Given the description of an element on the screen output the (x, y) to click on. 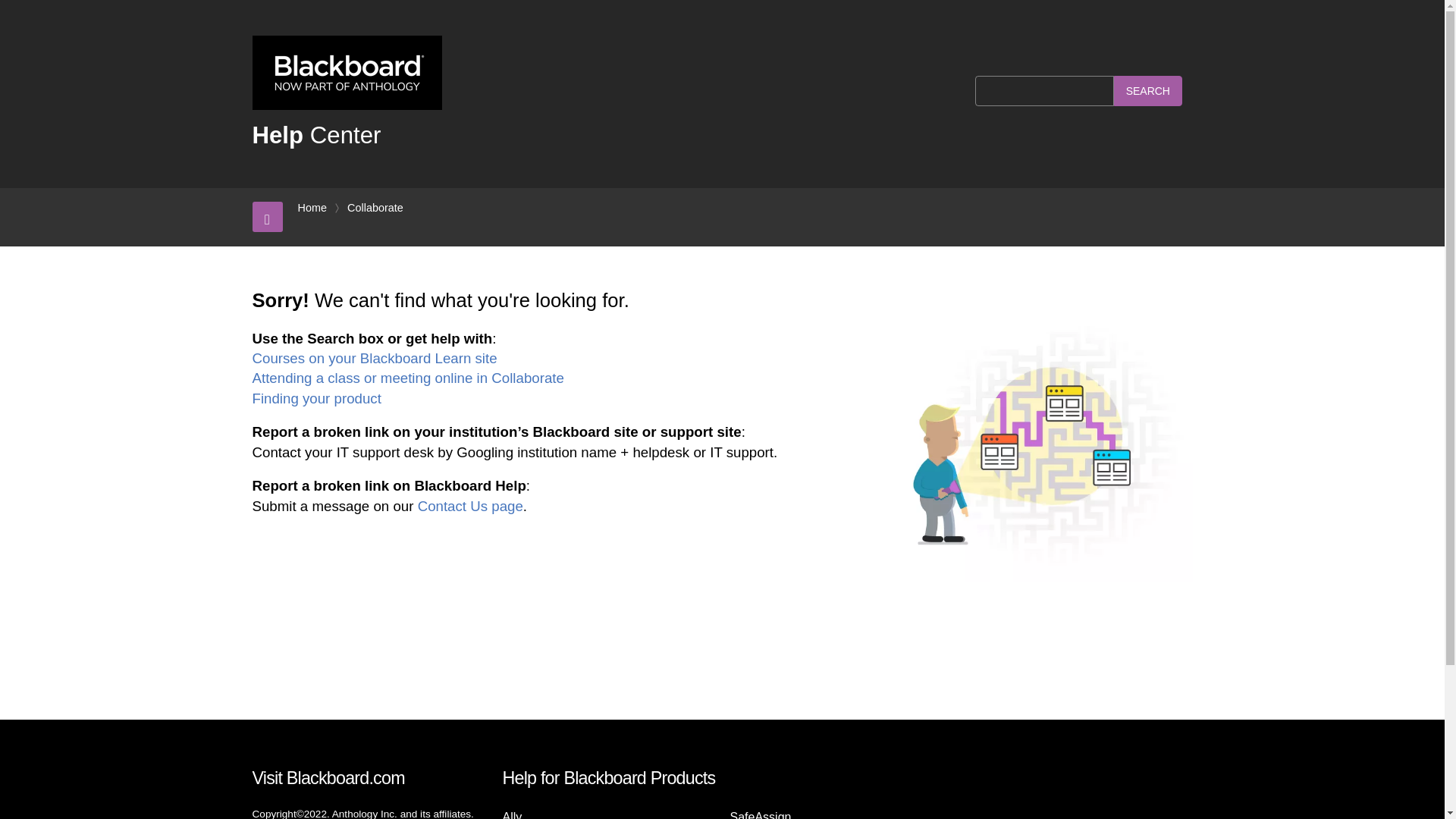
Home (311, 208)
Help Center (315, 135)
Search (1147, 90)
Search (1147, 90)
Collaborate (375, 208)
